Given the description of an element on the screen output the (x, y) to click on. 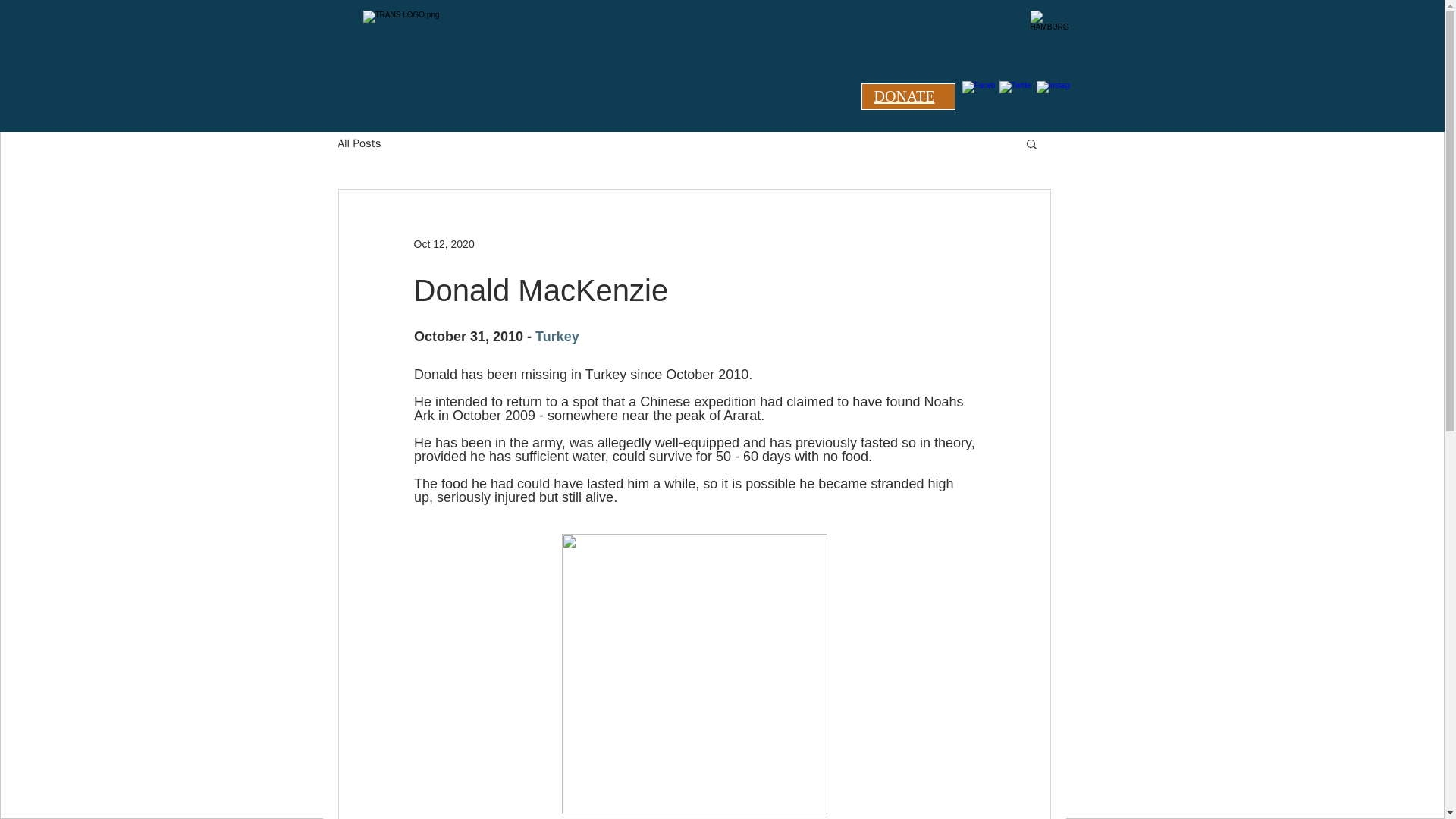
All Posts (359, 143)
DONATE (903, 95)
Turkey (557, 336)
Oct 12, 2020 (443, 244)
